Given the description of an element on the screen output the (x, y) to click on. 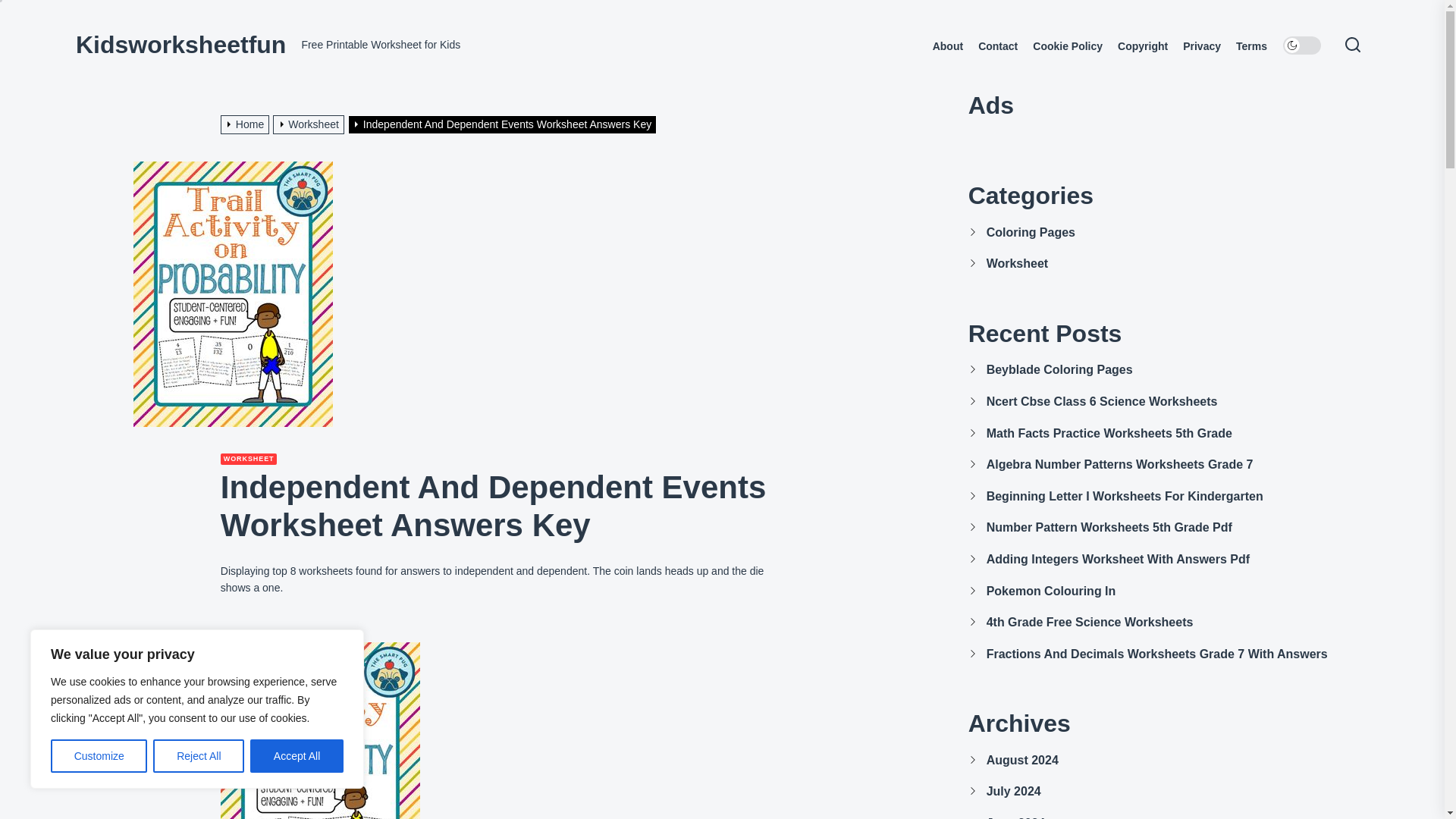
Home (247, 123)
Worksheet (310, 123)
Cookie Policy (1067, 46)
Copyright (1142, 46)
Terms (1251, 46)
Independent And Dependent Events Worksheet Answers Key (504, 123)
Customize (98, 756)
Reject All (198, 756)
About (947, 46)
Contact (997, 46)
